Given the description of an element on the screen output the (x, y) to click on. 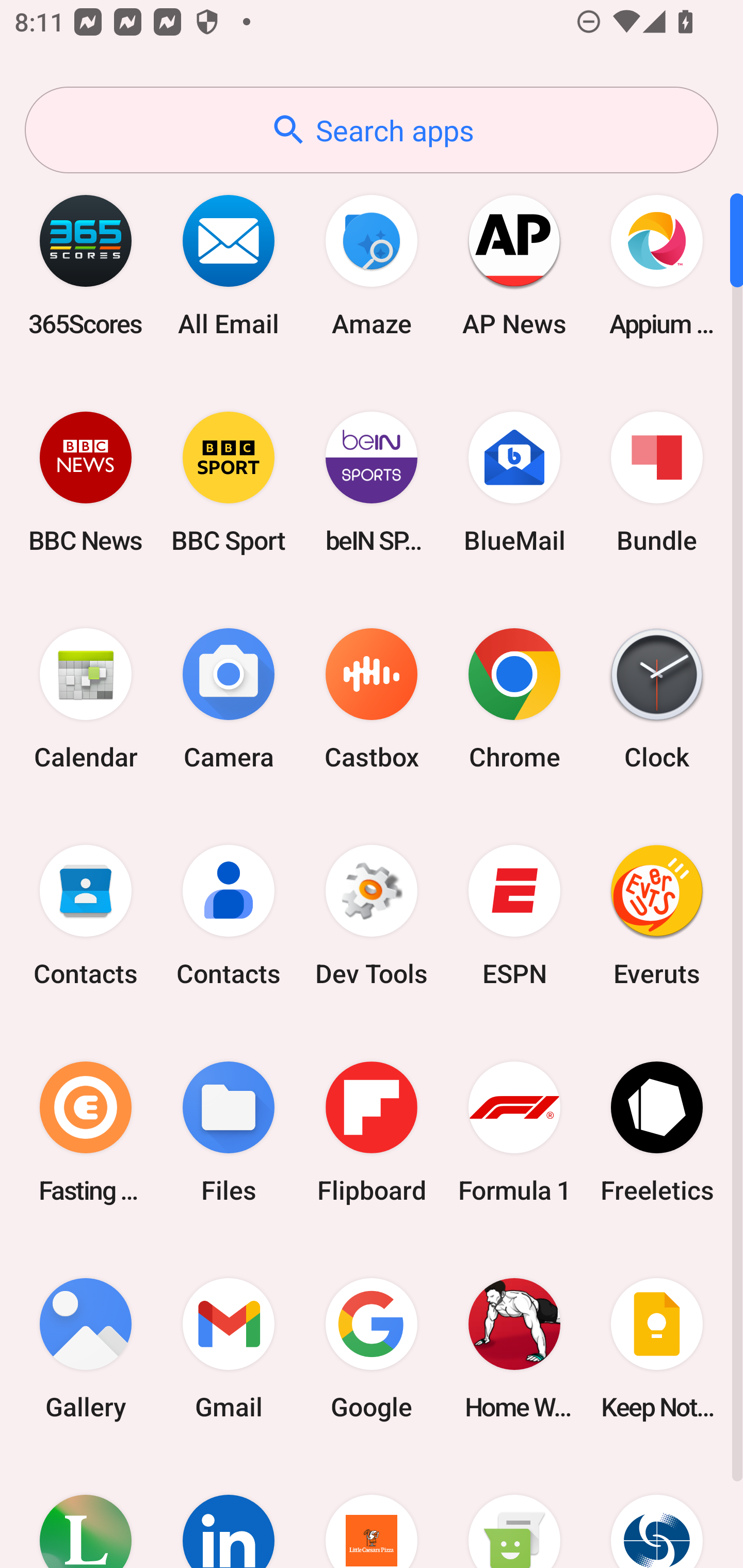
  Search apps (371, 130)
365Scores (85, 264)
All Email (228, 264)
Amaze (371, 264)
AP News (514, 264)
Appium Settings (656, 264)
BBC News (85, 482)
BBC Sport (228, 482)
beIN SPORTS (371, 482)
BlueMail (514, 482)
Bundle (656, 482)
Calendar (85, 699)
Camera (228, 699)
Castbox (371, 699)
Chrome (514, 699)
Clock (656, 699)
Contacts (85, 915)
Contacts (228, 915)
Dev Tools (371, 915)
ESPN (514, 915)
Everuts (656, 915)
Fasting Coach (85, 1131)
Files (228, 1131)
Flipboard (371, 1131)
Formula 1 (514, 1131)
Freeletics (656, 1131)
Gallery (85, 1348)
Gmail (228, 1348)
Google (371, 1348)
Home Workout (514, 1348)
Keep Notes (656, 1348)
